Given the description of an element on the screen output the (x, y) to click on. 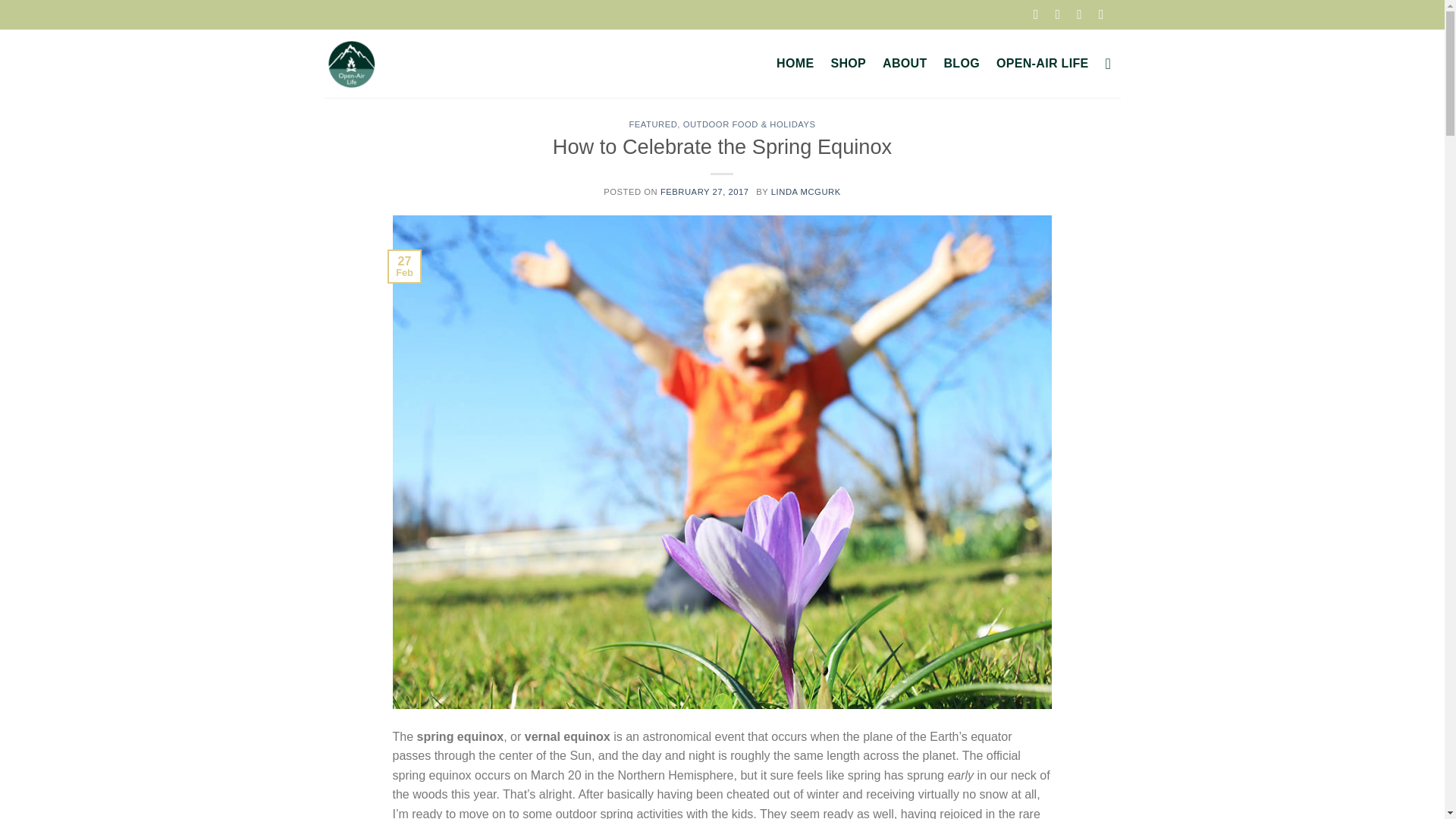
SHOP (847, 63)
FEBRUARY 27, 2017 (707, 190)
LINDA MCGURK (806, 190)
ABOUT (904, 63)
BLOG (961, 63)
OPEN-AIR LIFE (1042, 63)
FEATURED (652, 123)
HOME (794, 63)
